Given the description of an element on the screen output the (x, y) to click on. 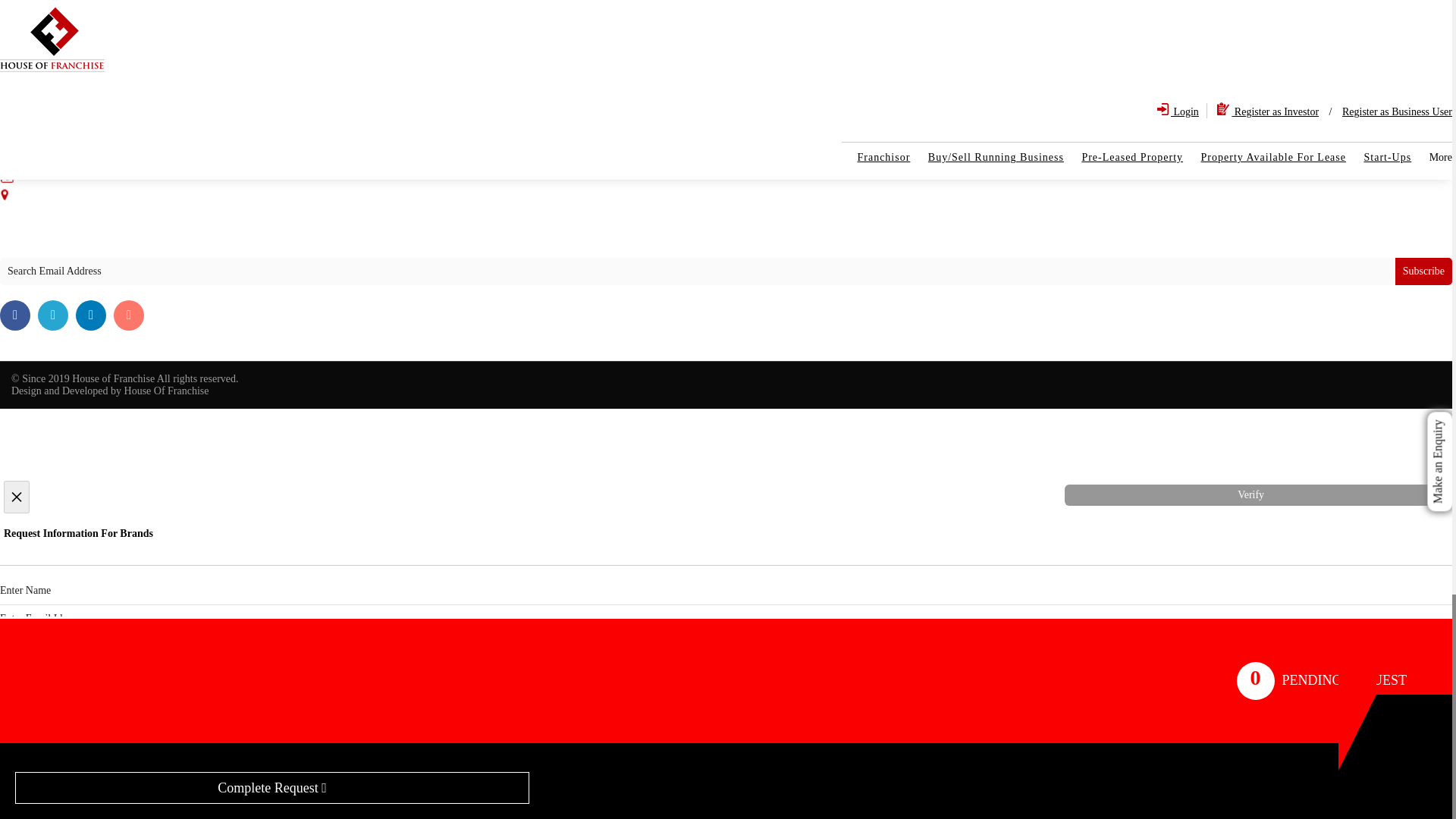
1 (5, 709)
1 (72, 756)
